Given the description of an element on the screen output the (x, y) to click on. 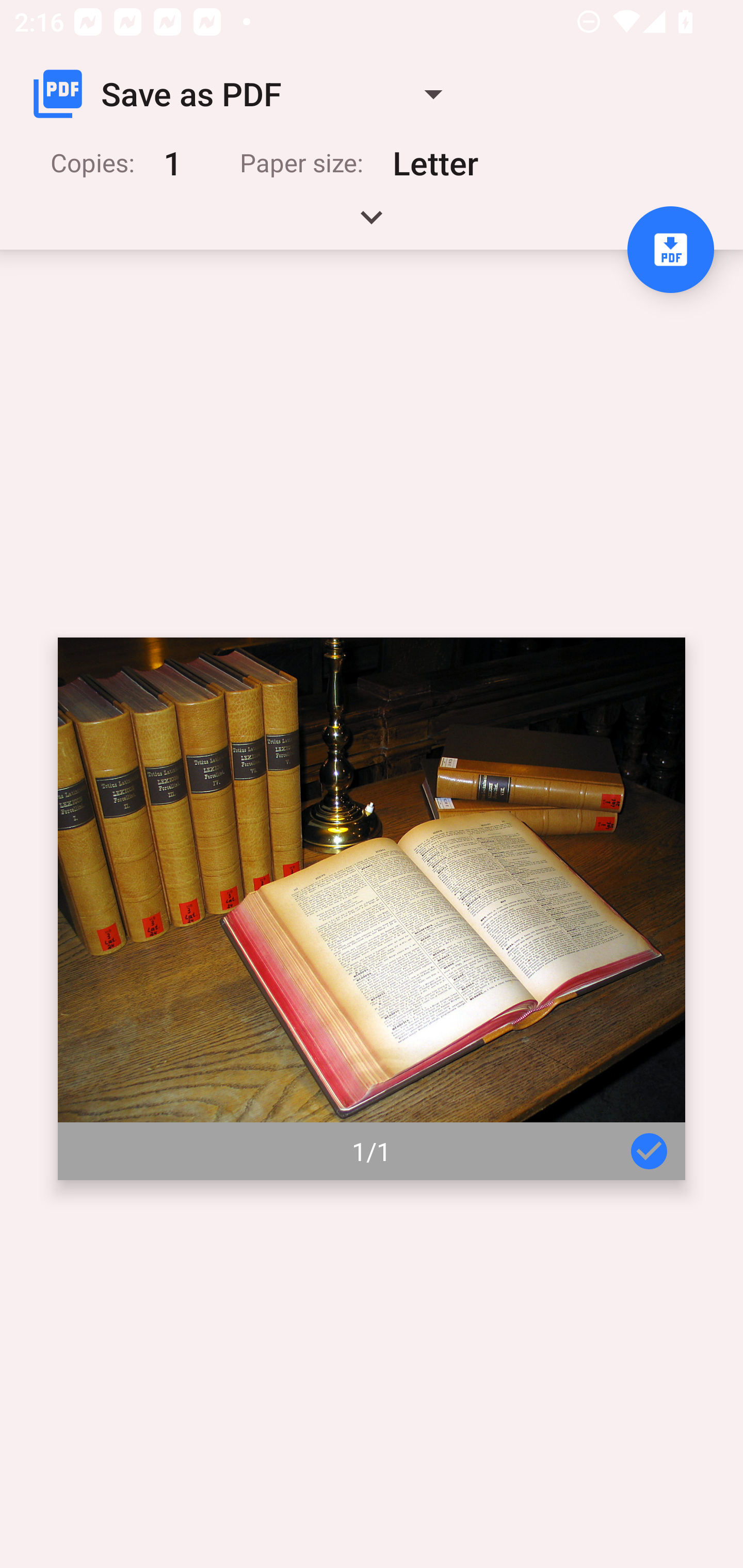
Save as PDF (245, 93)
Expand handle (371, 224)
Page 1 of 1 1/1 (371, 909)
